Given the description of an element on the screen output the (x, y) to click on. 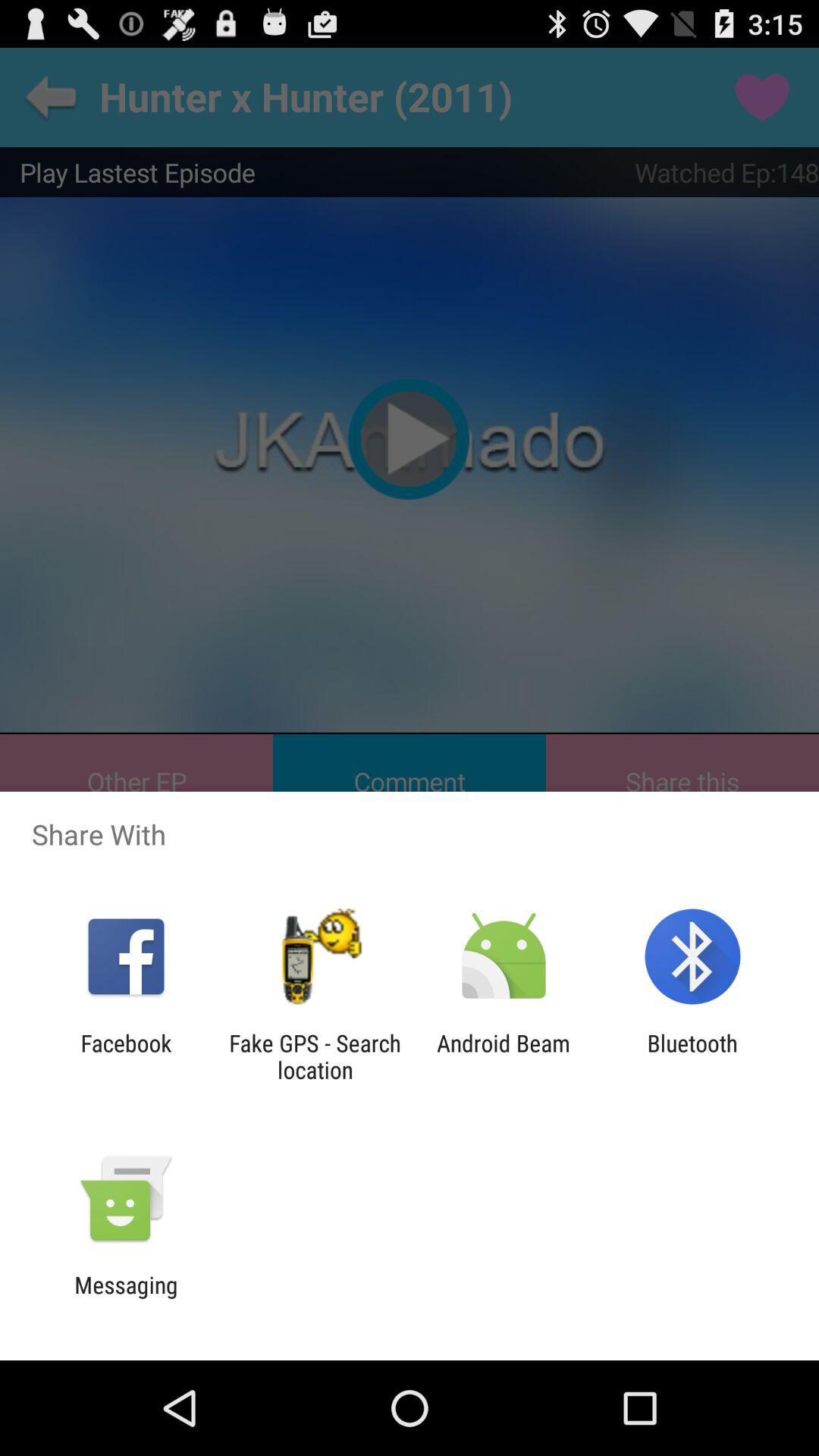
press the item next to the facebook (314, 1056)
